Given the description of an element on the screen output the (x, y) to click on. 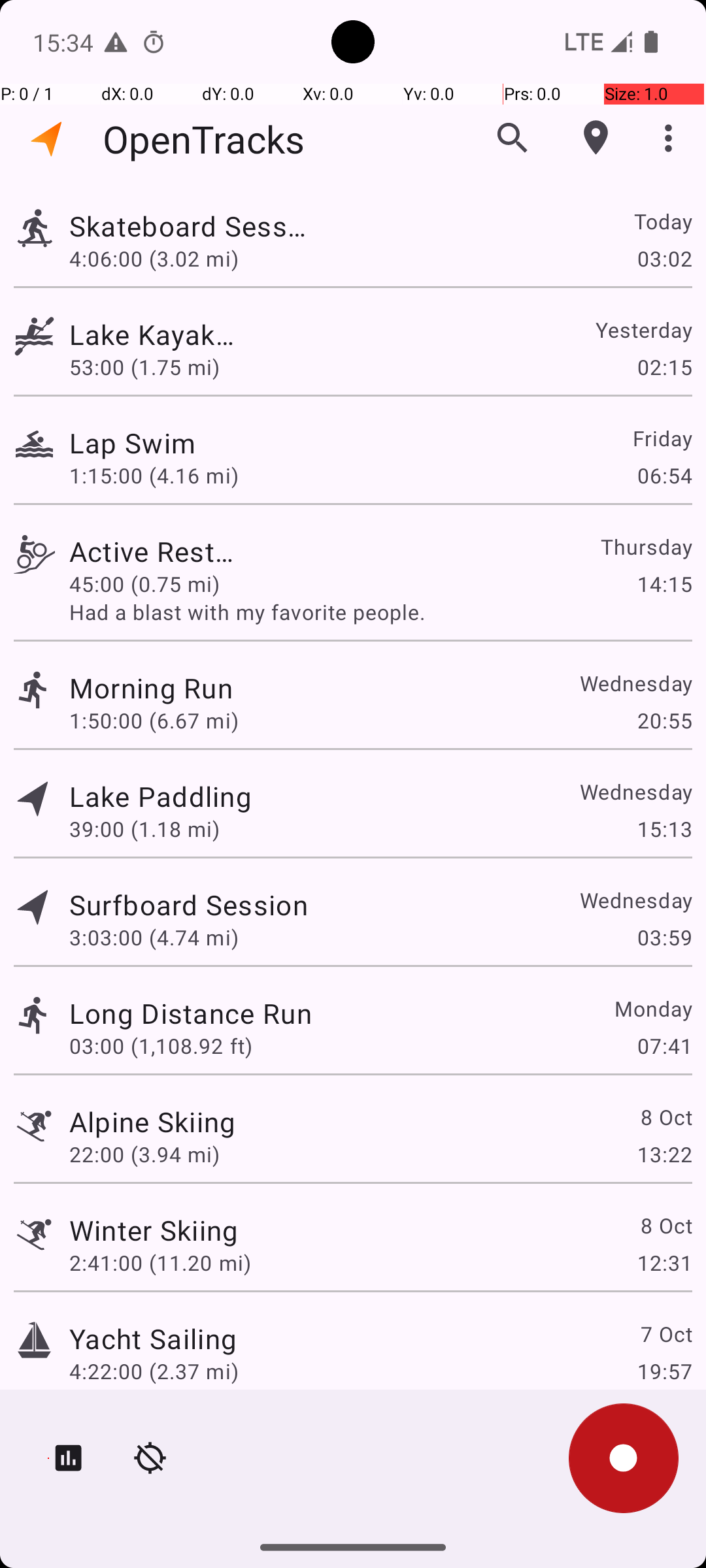
Skateboard Session Element type: android.widget.TextView (190, 225)
4:06:00 (3.02 mi) Element type: android.widget.TextView (160, 258)
03:02 Element type: android.widget.TextView (664, 258)
Lake Kayaking Element type: android.widget.TextView (152, 333)
Yesterday Element type: android.widget.TextView (643, 329)
53:00 (1.75 mi) Element type: android.widget.TextView (144, 366)
02:15 Element type: android.widget.TextView (664, 366)
Lap Swim Element type: android.widget.TextView (153, 442)
1:15:00 (4.16 mi) Element type: android.widget.TextView (159, 475)
06:54 Element type: android.widget.TextView (664, 475)
Active Rest Day Element type: android.widget.TextView (152, 550)
45:00 (0.75 mi) Element type: android.widget.TextView (153, 583)
14:15 Element type: android.widget.TextView (664, 583)
Had a blast with my favorite people. Element type: android.widget.TextView (380, 611)
Morning Run Element type: android.widget.TextView (153, 687)
1:50:00 (6.67 mi) Element type: android.widget.TextView (153, 720)
20:55 Element type: android.widget.TextView (664, 720)
Lake Paddling Element type: android.widget.TextView (160, 795)
39:00 (1.18 mi) Element type: android.widget.TextView (144, 828)
15:13 Element type: android.widget.TextView (664, 828)
Surfboard Session Element type: android.widget.TextView (188, 904)
3:03:00 (4.74 mi) Element type: android.widget.TextView (153, 937)
03:59 Element type: android.widget.TextView (664, 937)
Long Distance Run Element type: android.widget.TextView (190, 1012)
Monday Element type: android.widget.TextView (652, 1008)
03:00 (1,108.92 ft) Element type: android.widget.TextView (160, 1045)
07:41 Element type: android.widget.TextView (664, 1045)
Alpine Skiing Element type: android.widget.TextView (152, 1121)
8 Oct Element type: android.widget.TextView (665, 1116)
22:00 (3.94 mi) Element type: android.widget.TextView (144, 1154)
13:22 Element type: android.widget.TextView (664, 1154)
Winter Skiing Element type: android.widget.TextView (153, 1229)
2:41:00 (11.20 mi) Element type: android.widget.TextView (159, 1262)
12:31 Element type: android.widget.TextView (664, 1262)
Yacht Sailing Element type: android.widget.TextView (152, 1337)
7 Oct Element type: android.widget.TextView (665, 1333)
4:22:00 (2.37 mi) Element type: android.widget.TextView (153, 1370)
19:57 Element type: android.widget.TextView (664, 1370)
